Given the description of an element on the screen output the (x, y) to click on. 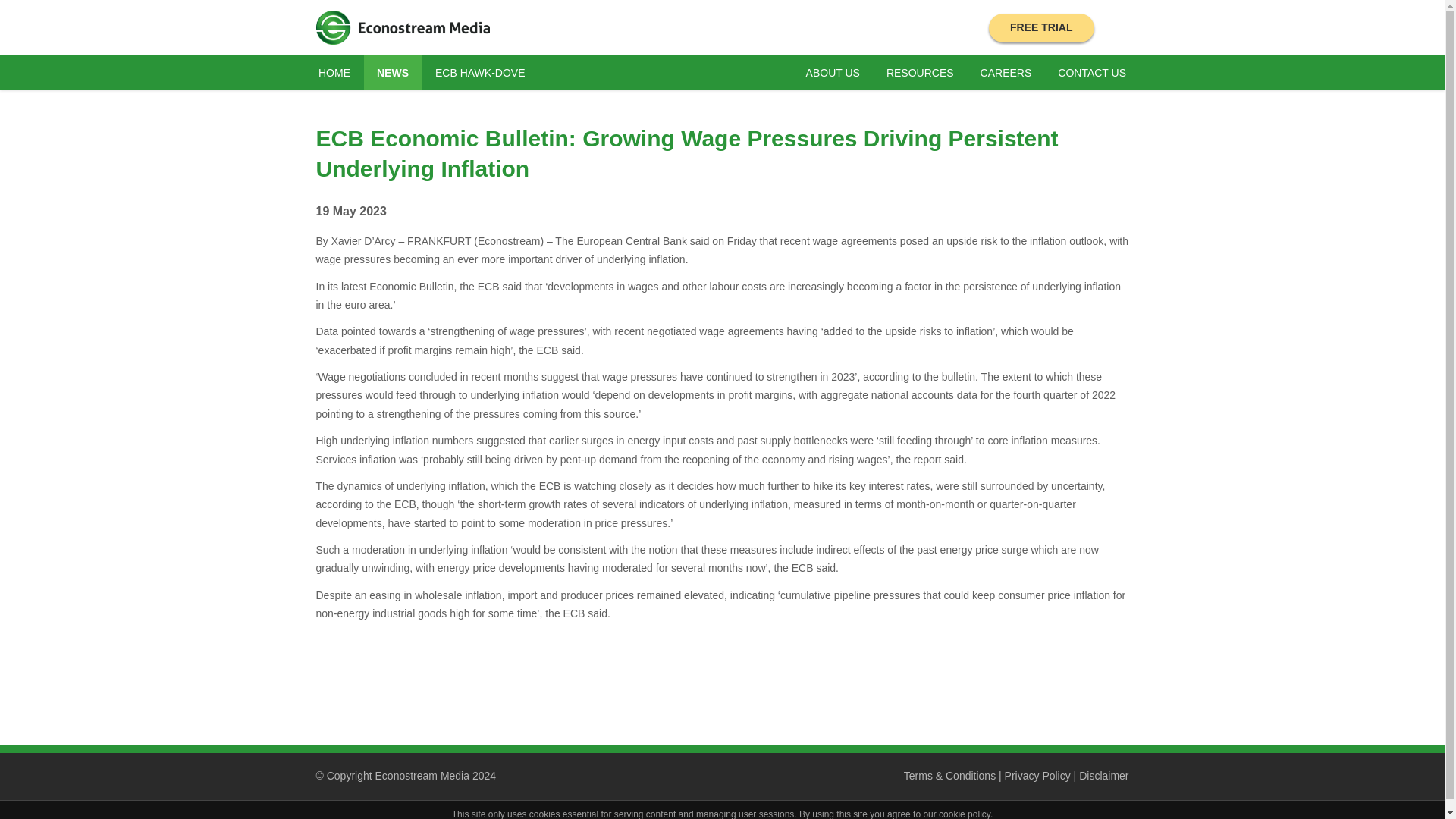
Disclaimer (1103, 775)
Privacy Policy (1037, 775)
RESOURCES (919, 72)
HOME (333, 72)
CAREERS (1005, 72)
CONTACT US (1092, 72)
Econostream Media (402, 26)
NEWS (393, 72)
ECB HAWK-DOVE (480, 72)
FREE TRIAL (1040, 27)
